Given the description of an element on the screen output the (x, y) to click on. 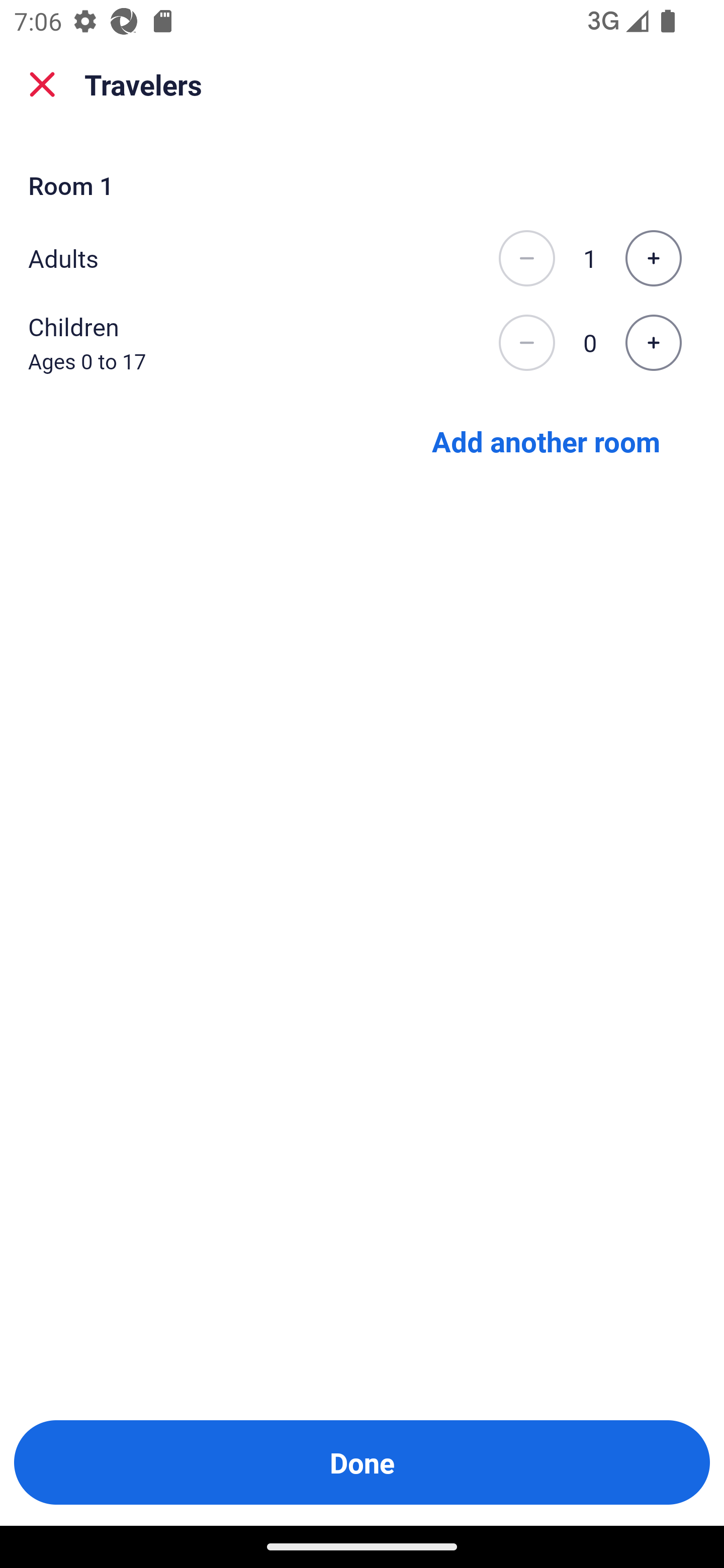
close (42, 84)
Decrease the number of adults (526, 258)
Increase the number of adults (653, 258)
Decrease the number of children (526, 343)
Increase the number of children (653, 343)
Add another room (545, 440)
Done (361, 1462)
